Given the description of an element on the screen output the (x, y) to click on. 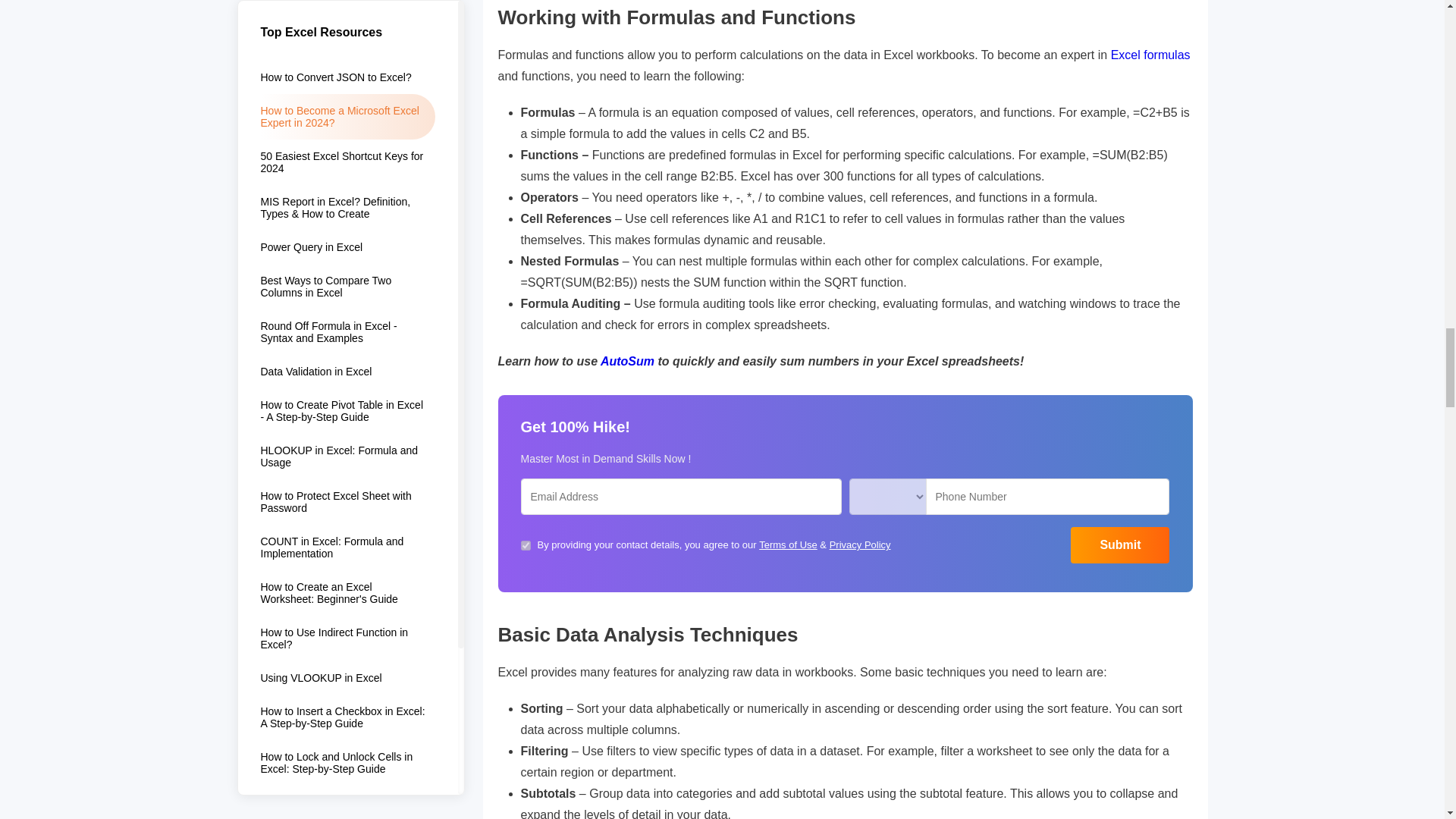
on (524, 545)
Submit (1119, 545)
